Given the description of an element on the screen output the (x, y) to click on. 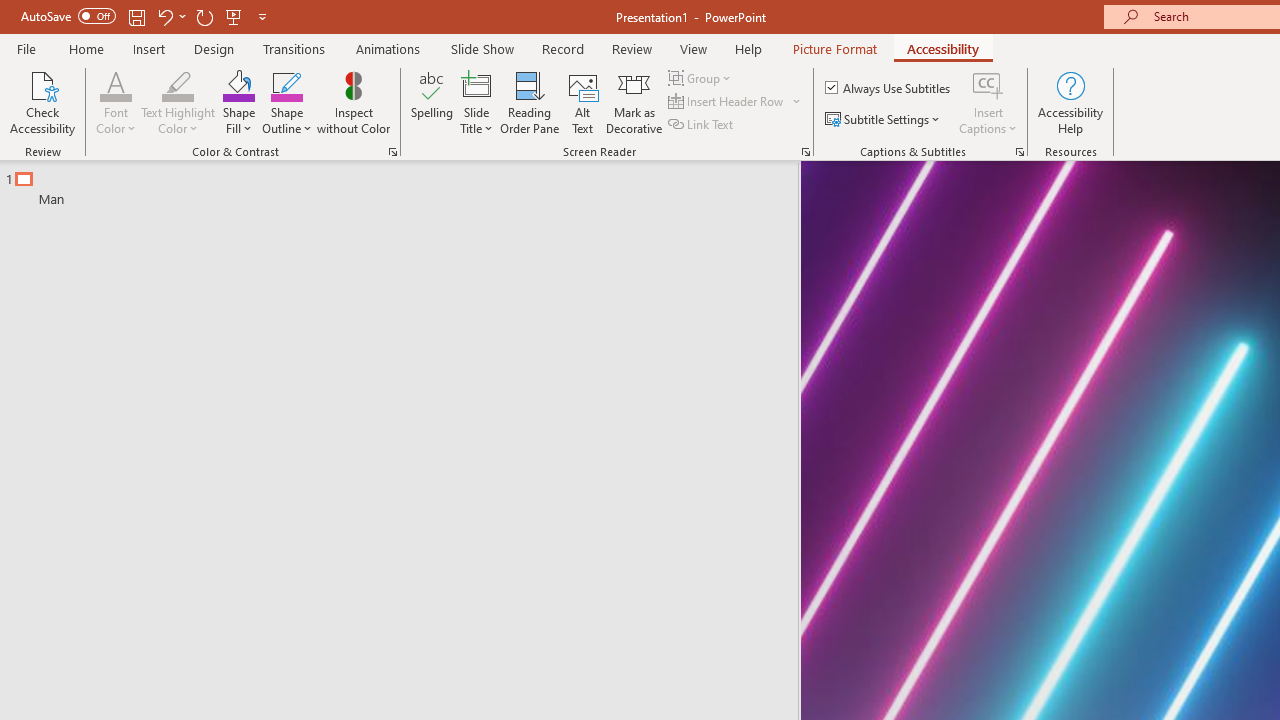
Picture Format (834, 48)
Color & Contrast (392, 151)
Captions & Subtitles (1019, 151)
Screen Reader (805, 151)
Home (86, 48)
Slide Title (476, 102)
AutoSave (68, 16)
System (10, 11)
Outline (408, 184)
Slide Show (481, 48)
Undo (164, 15)
Transitions (294, 48)
Record (562, 48)
Mark as Decorative (634, 102)
Reading Order Pane (529, 102)
